Given the description of an element on the screen output the (x, y) to click on. 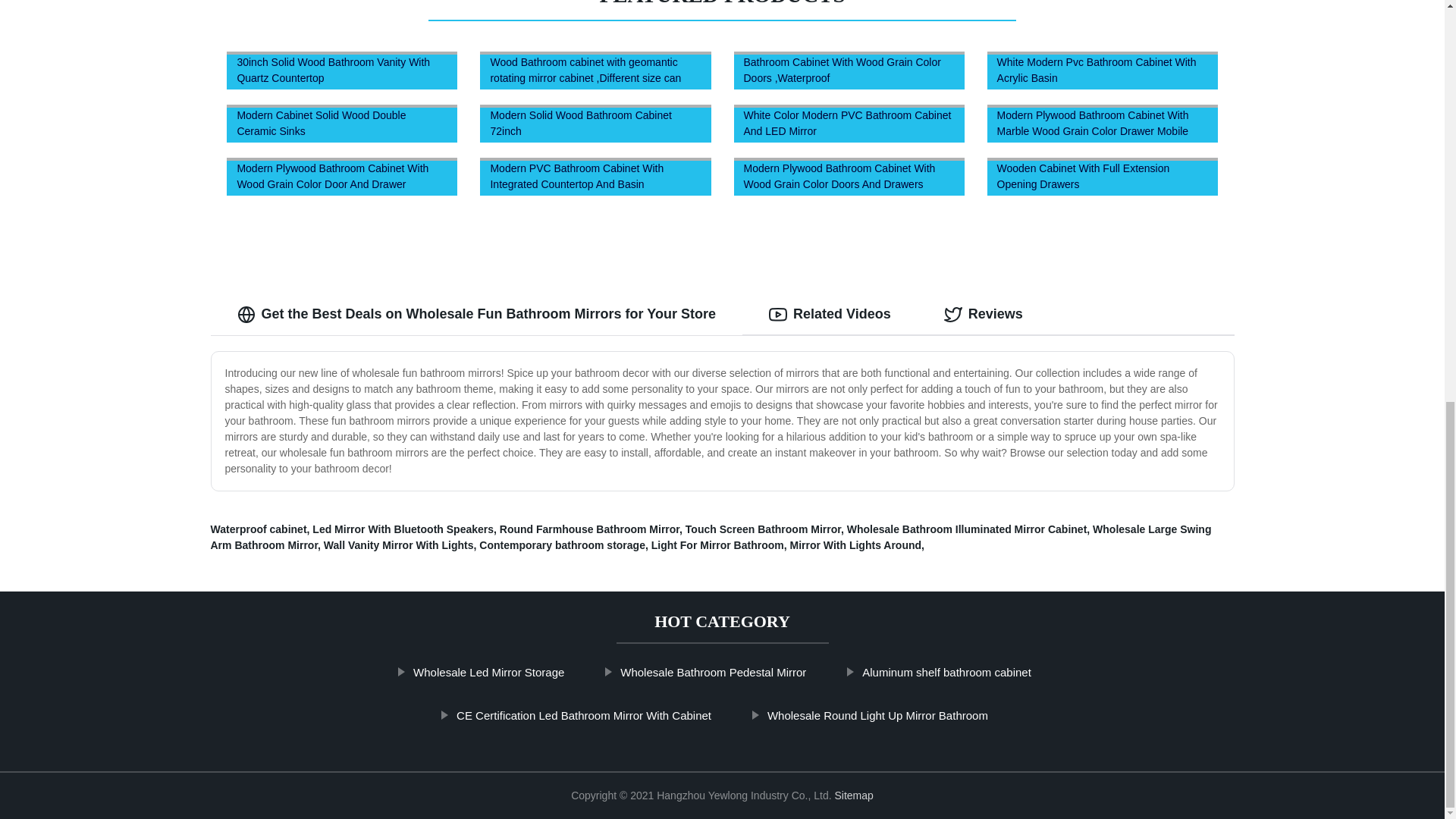
Modern Cabinet Solid Wood Double Ceramic Sinks (341, 123)
White Modern Pvc Bathroom Cabinet With Acrylic Basin (1101, 70)
30inch Solid Wood Bathroom Vanity With Quartz Countertop (341, 70)
Bathroom Cabinet With Wood Grain Color Doors ,Waterproof (848, 70)
Modern Solid Wood Bathroom Cabinet 72inch (595, 123)
